Given the description of an element on the screen output the (x, y) to click on. 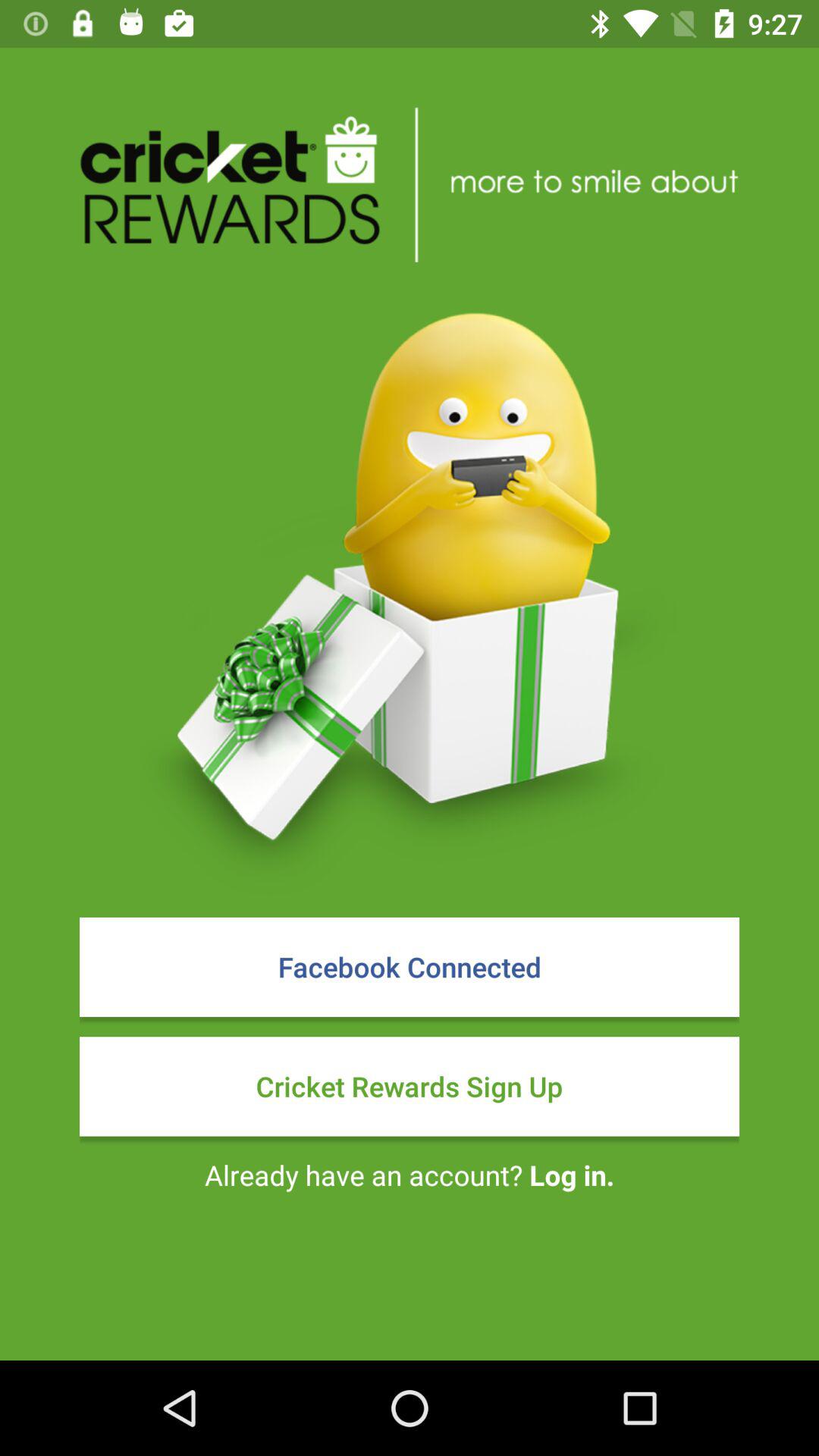
select the already have an (409, 1174)
